Given the description of an element on the screen output the (x, y) to click on. 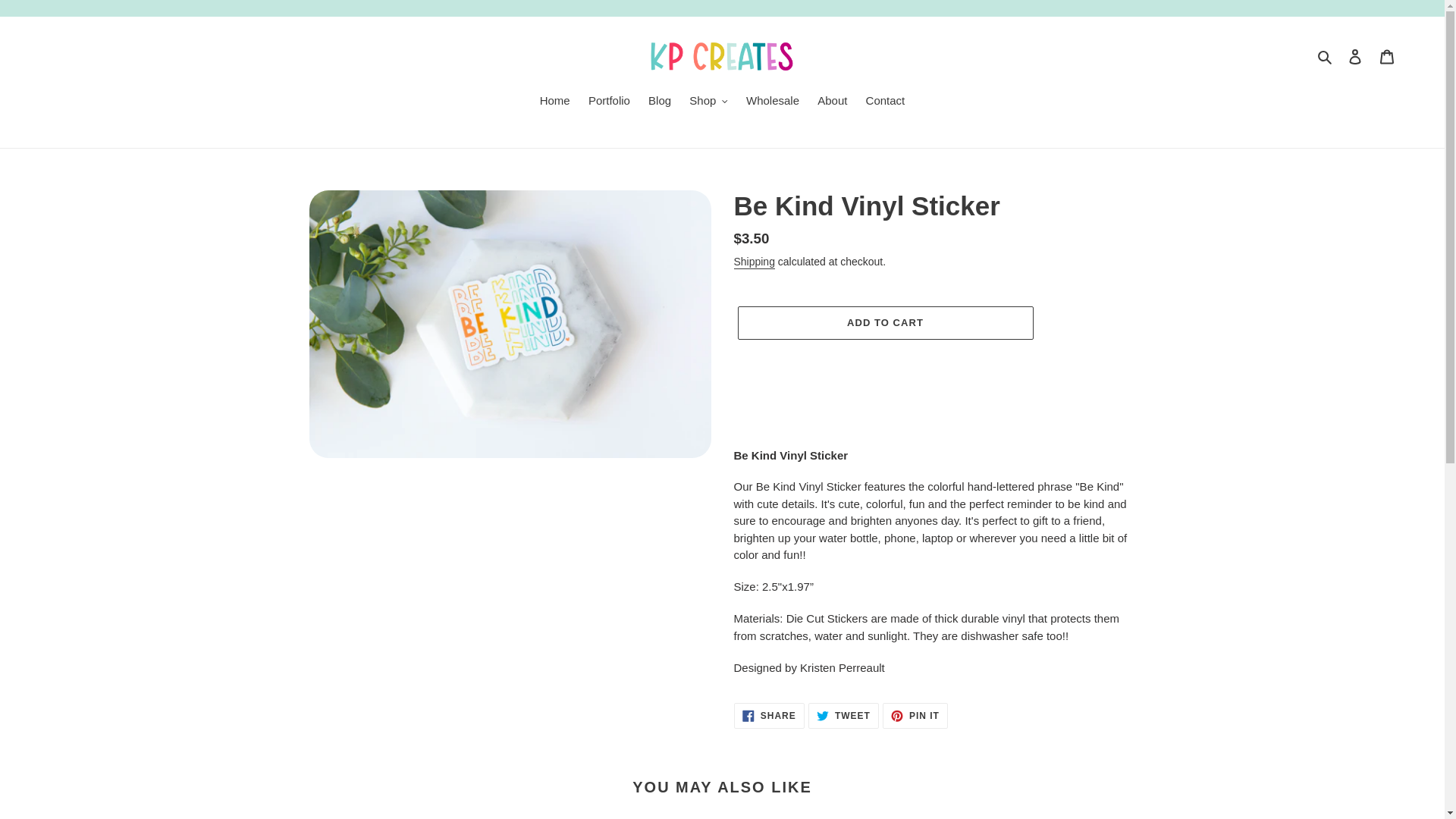
Contact (885, 102)
Search (1326, 56)
Portfolio (608, 102)
Home (555, 102)
Log in (1355, 56)
Cart (1387, 56)
Blog (659, 102)
About (831, 102)
Shop (708, 102)
Wholesale (772, 102)
